Given the description of an element on the screen output the (x, y) to click on. 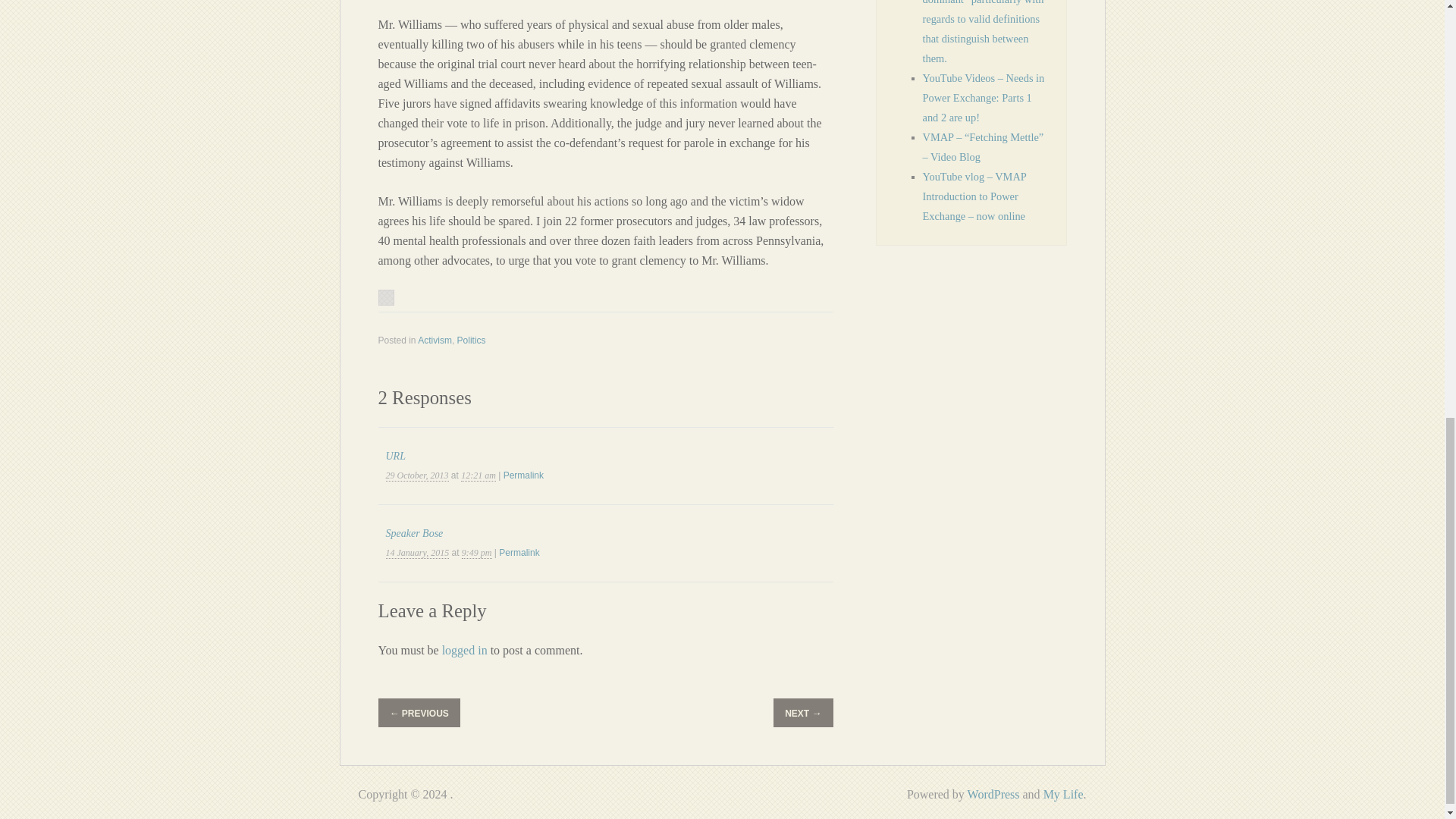
Tuesday, October 29th, 2013, 12:21 am (416, 475)
logged in (464, 649)
Politics (471, 339)
Permalink (518, 552)
Wednesday, January 14th, 2015, 9:49 pm (416, 552)
Permalink to comment 48 (523, 475)
Speaker Bose (413, 532)
Permalink (523, 475)
Activism (434, 339)
URL (394, 455)
